Given the description of an element on the screen output the (x, y) to click on. 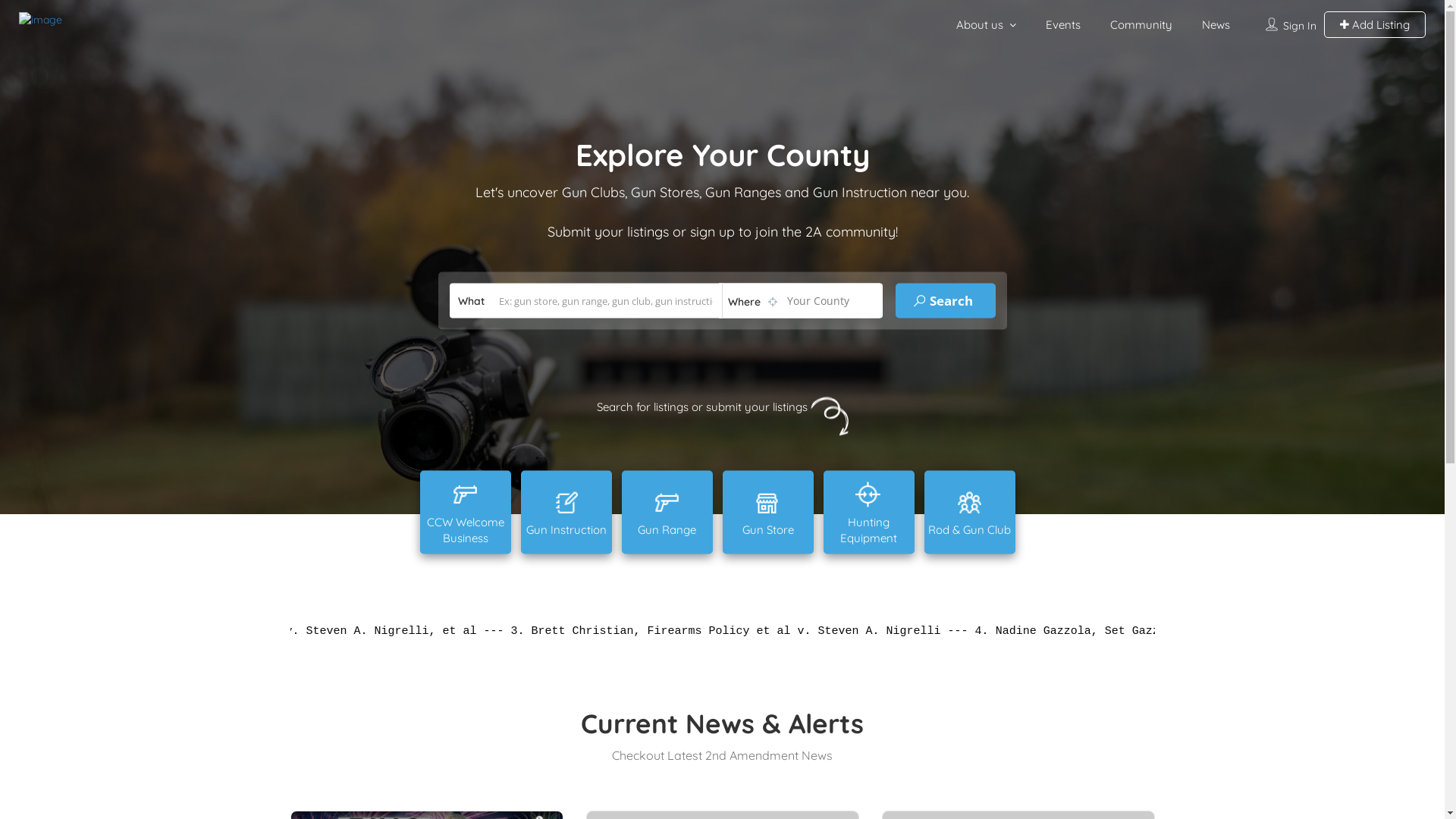
Your County Element type: text (798, 300)
Gun Store Element type: text (766, 511)
Gun Instruction Element type: text (565, 511)
News Element type: text (1215, 24)
CCW Welcome Business Element type: text (465, 511)
Community Element type: text (1141, 24)
About us Element type: text (979, 24)
Search Element type: text (944, 300)
Hunting Equipment Element type: text (868, 511)
Sign In Element type: text (1299, 25)
Rod & Gun Club Element type: text (968, 511)
Gun Range Element type: text (666, 511)
Events Element type: text (1062, 24)
Add Listing Element type: text (1374, 24)
